Given the description of an element on the screen output the (x, y) to click on. 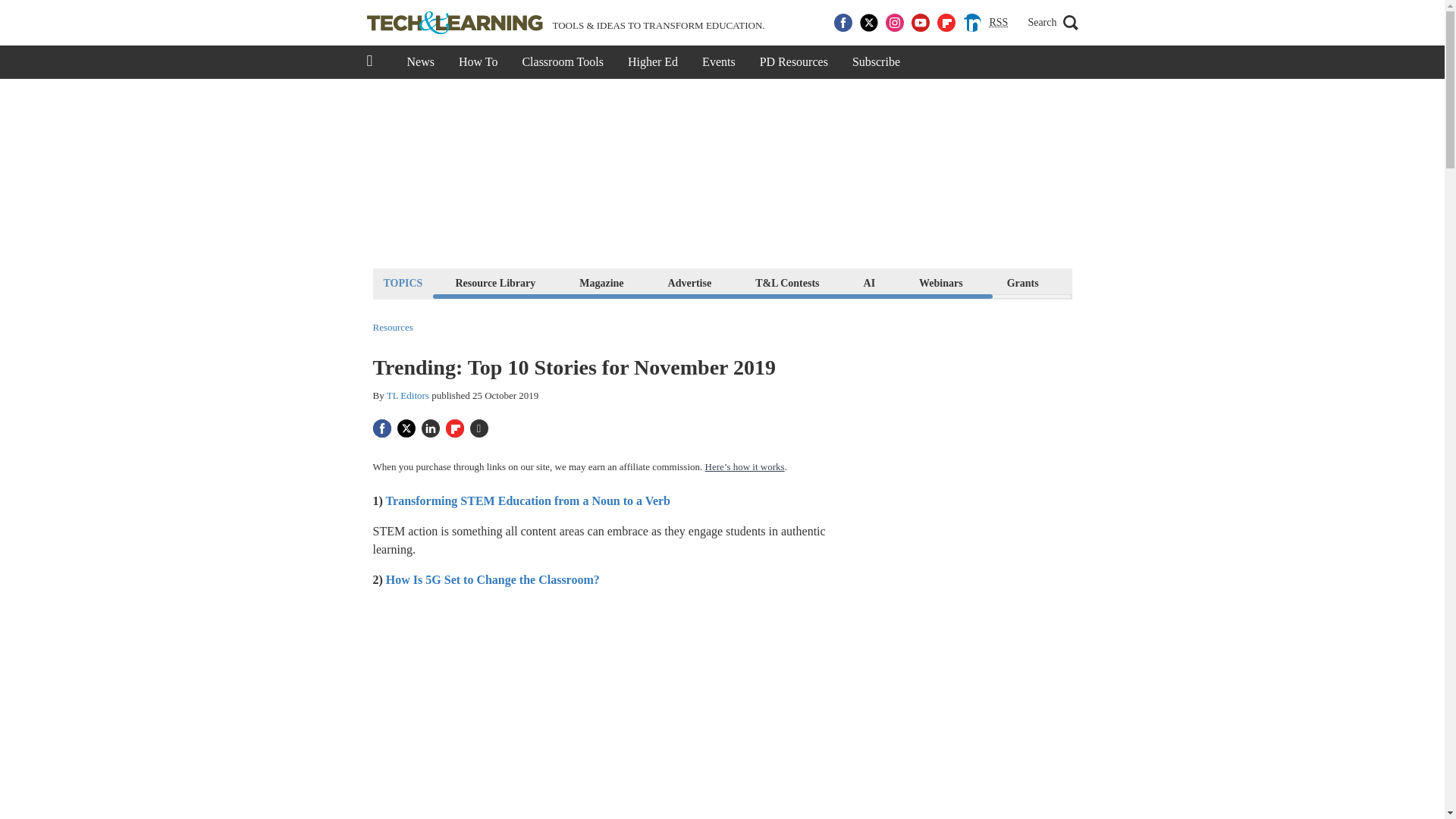
Classroom Tools (561, 61)
Higher Ed (652, 61)
Transforming STEM Education from a Noun to a Verb  (528, 500)
Magazine (600, 282)
What to Buy (1111, 282)
Really Simple Syndication (997, 21)
News (419, 61)
Resources (392, 327)
TL Editors (408, 395)
How Is 5G Set to Change the Classroom?  (493, 579)
How To (477, 61)
AI (869, 282)
Webinars (941, 282)
RSS (997, 22)
PD Resources (794, 61)
